Given the description of an element on the screen output the (x, y) to click on. 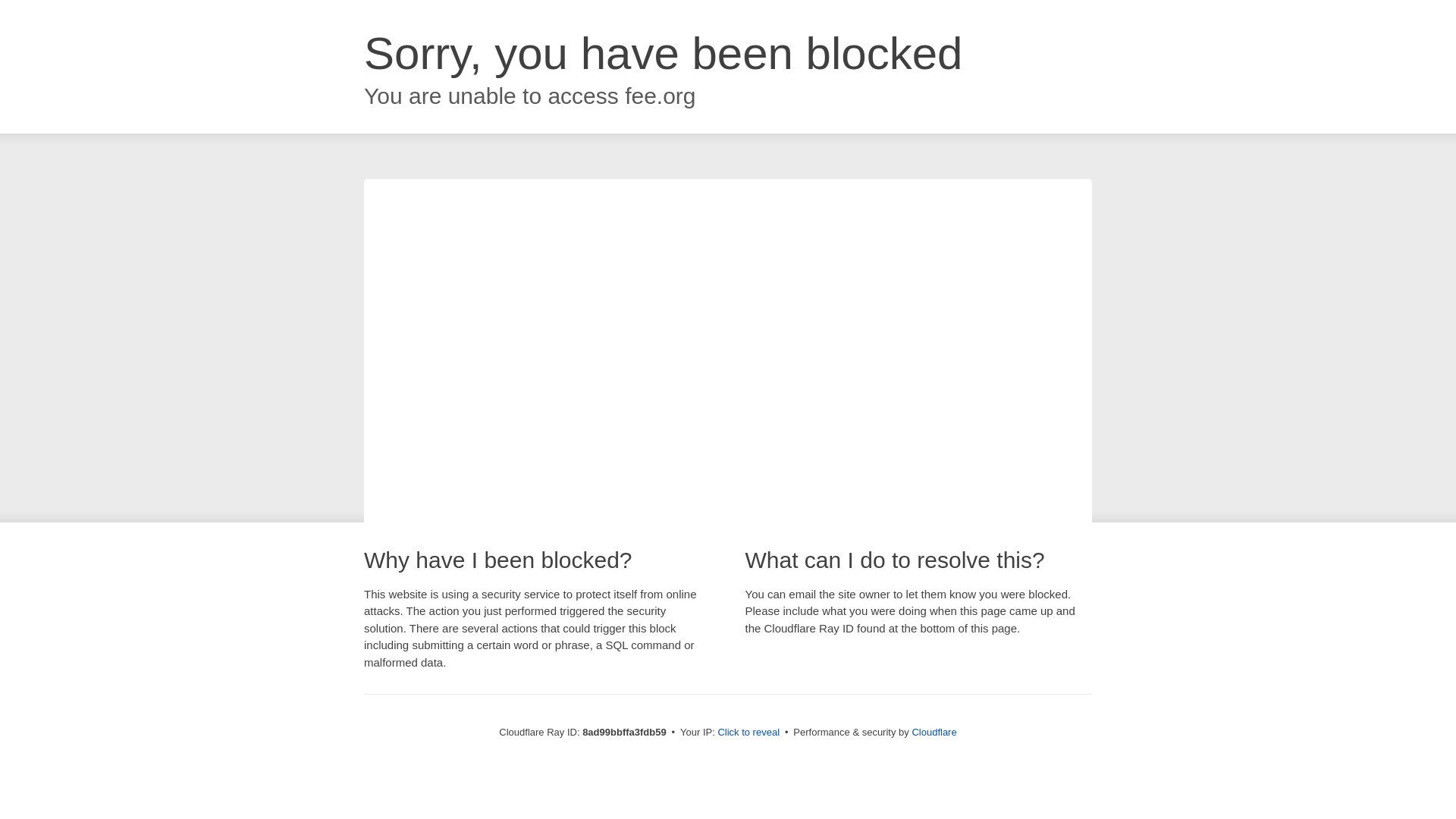
Cloudflare (933, 731)
Click to reveal (747, 732)
